Given the description of an element on the screen output the (x, y) to click on. 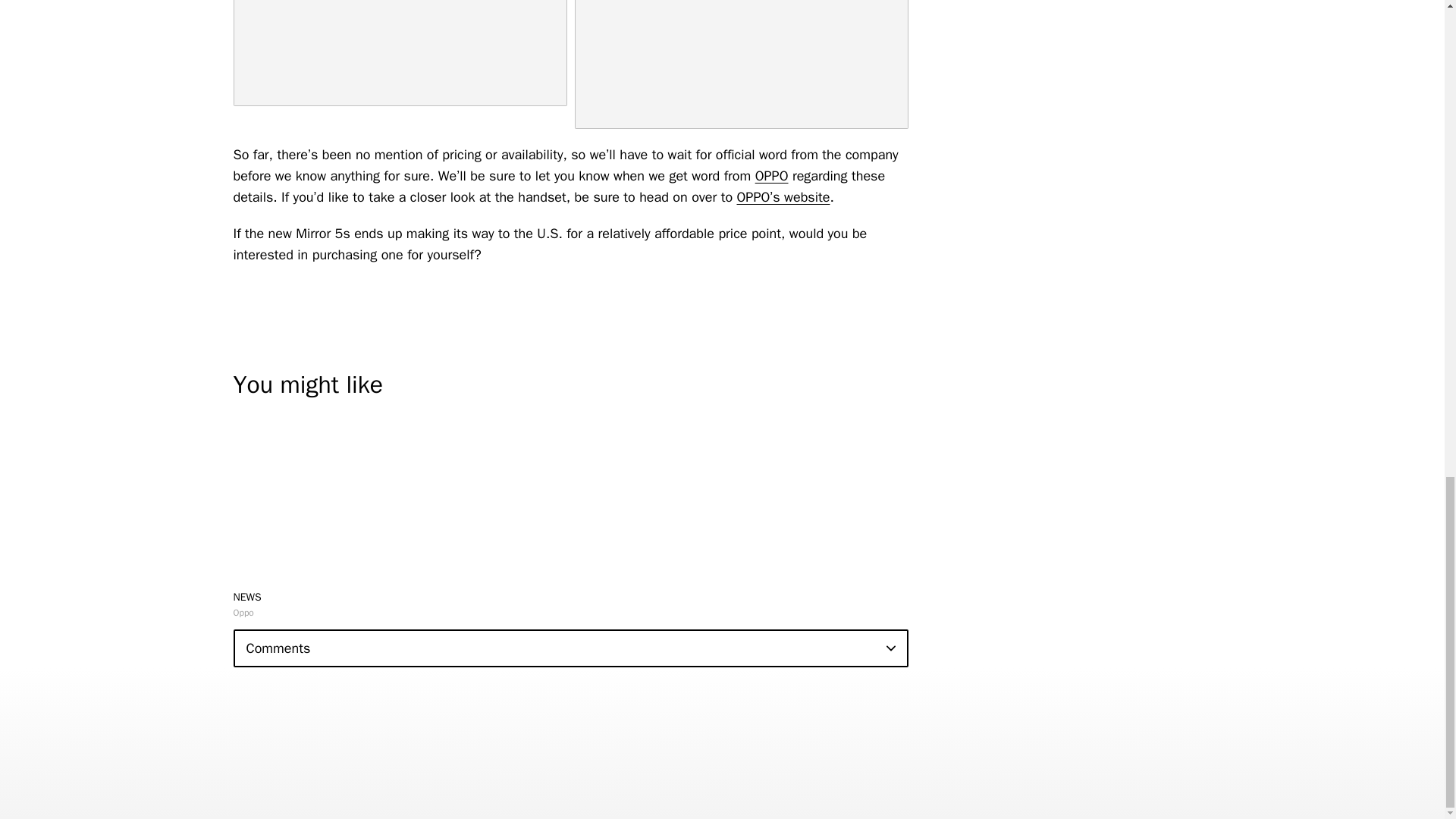
NEWS (247, 596)
Screen Shot 2015-07-03 at 4.47.01 PM (399, 53)
Screen Shot 2015-07-03 at 4.47.13 PM (741, 64)
OPPO (772, 175)
Oppo (242, 612)
Comments (570, 648)
